Given the description of an element on the screen output the (x, y) to click on. 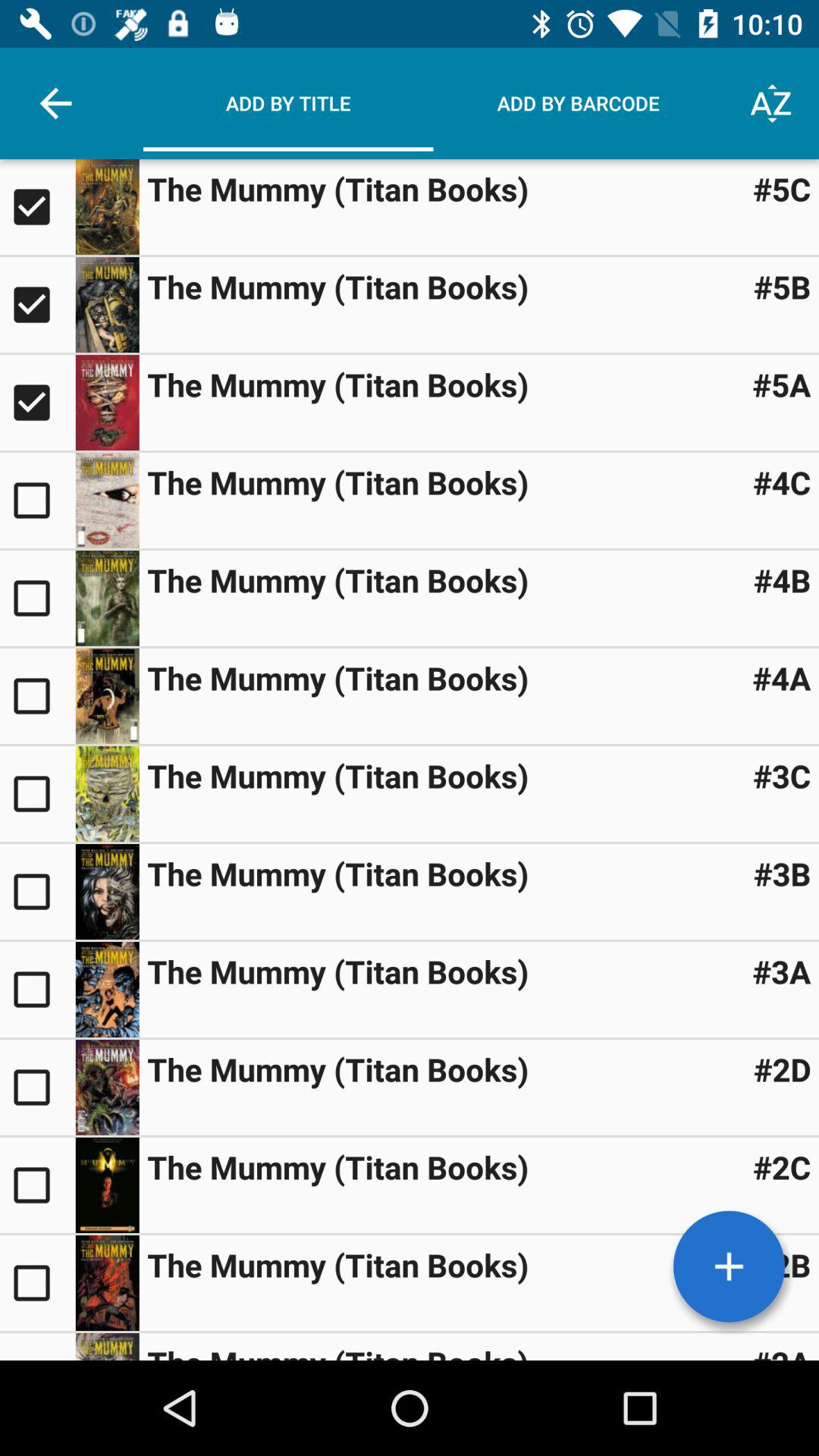
add a book (729, 1266)
